Given the description of an element on the screen output the (x, y) to click on. 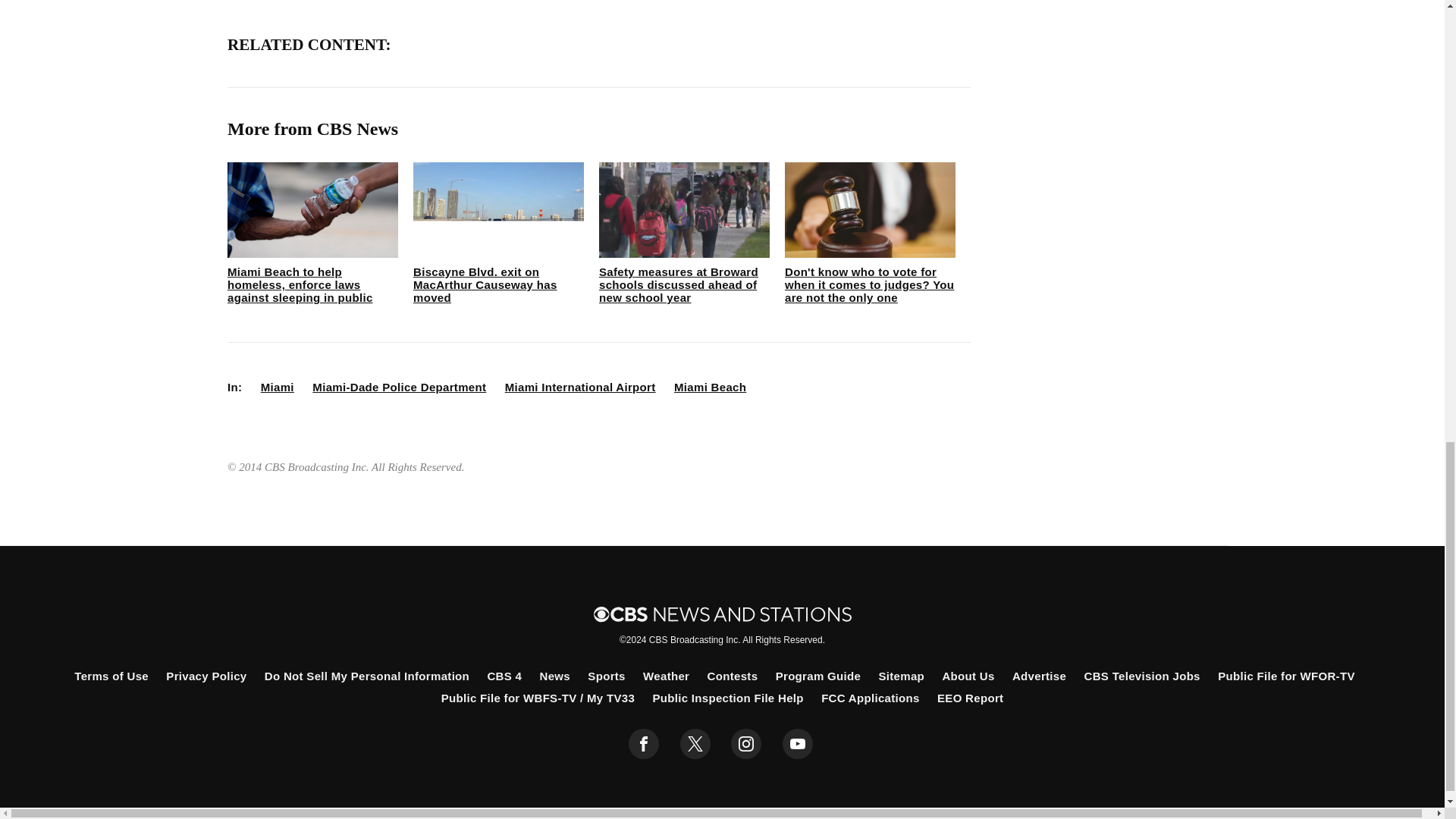
instagram (745, 743)
twitter (694, 743)
facebook (643, 743)
youtube (797, 743)
